Given the description of an element on the screen output the (x, y) to click on. 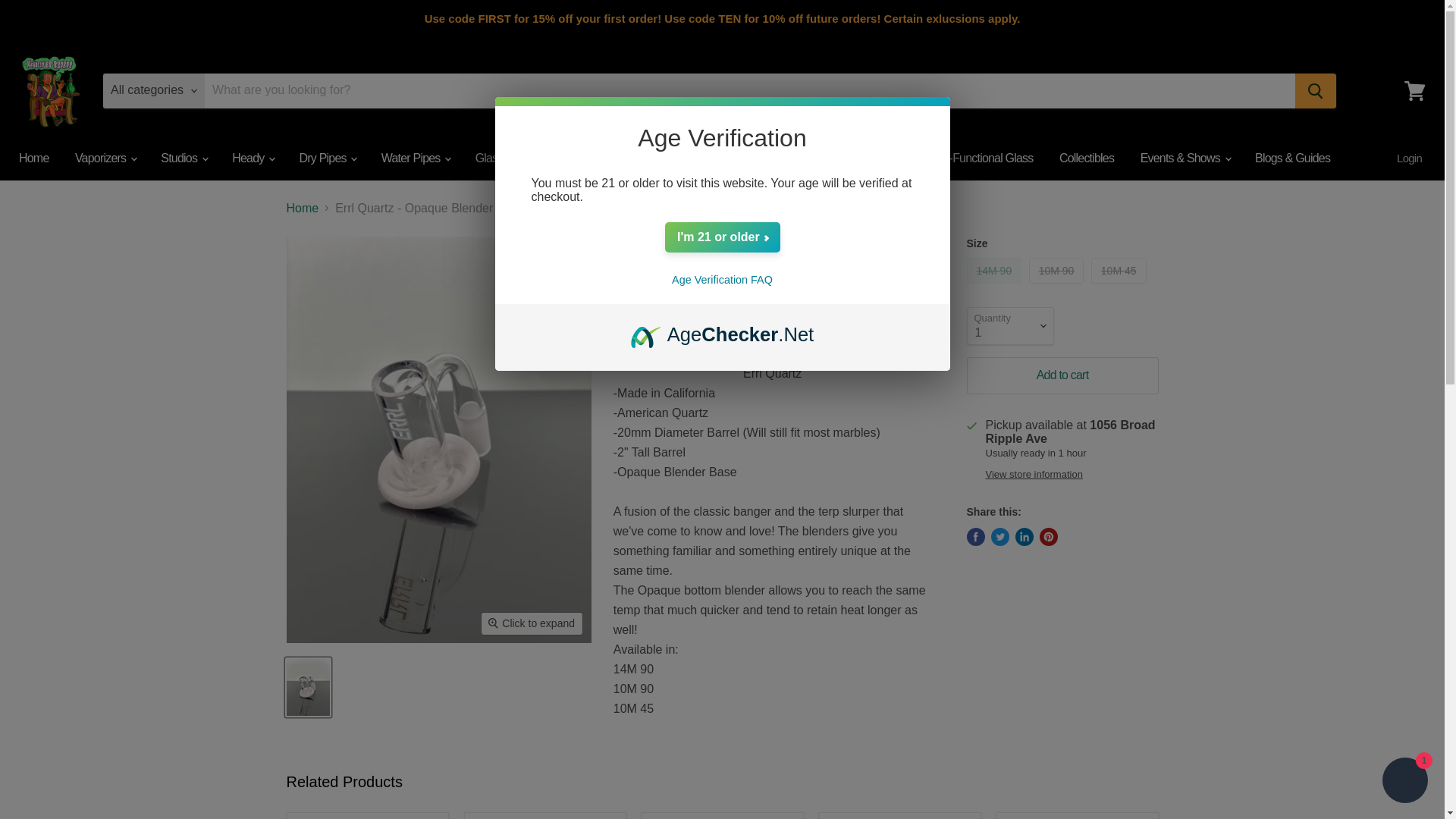
Heady (252, 158)
View cart (1414, 89)
Vaporizers (105, 158)
Shopify online store chat (1404, 781)
Studios (182, 158)
Home (33, 158)
